Given the description of an element on the screen output the (x, y) to click on. 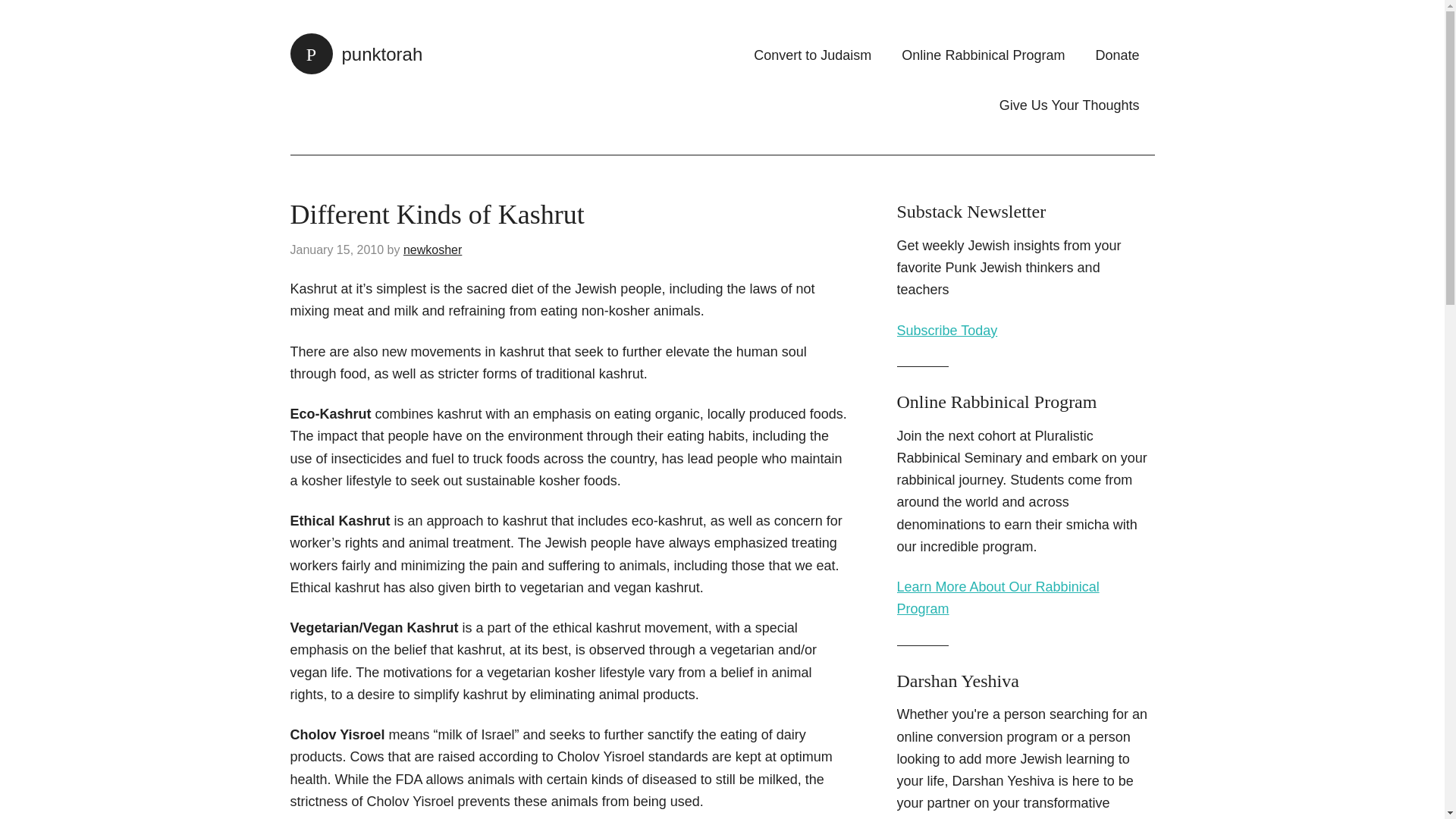
Convert to Judaism (812, 55)
Give Us Your Thoughts (1069, 105)
Online Rabbinical Program (983, 55)
Donate (1117, 55)
Learn More About Our Rabbinical Program (997, 597)
punktorah (355, 54)
Subscribe Today (946, 330)
newkosher (432, 249)
